Given the description of an element on the screen output the (x, y) to click on. 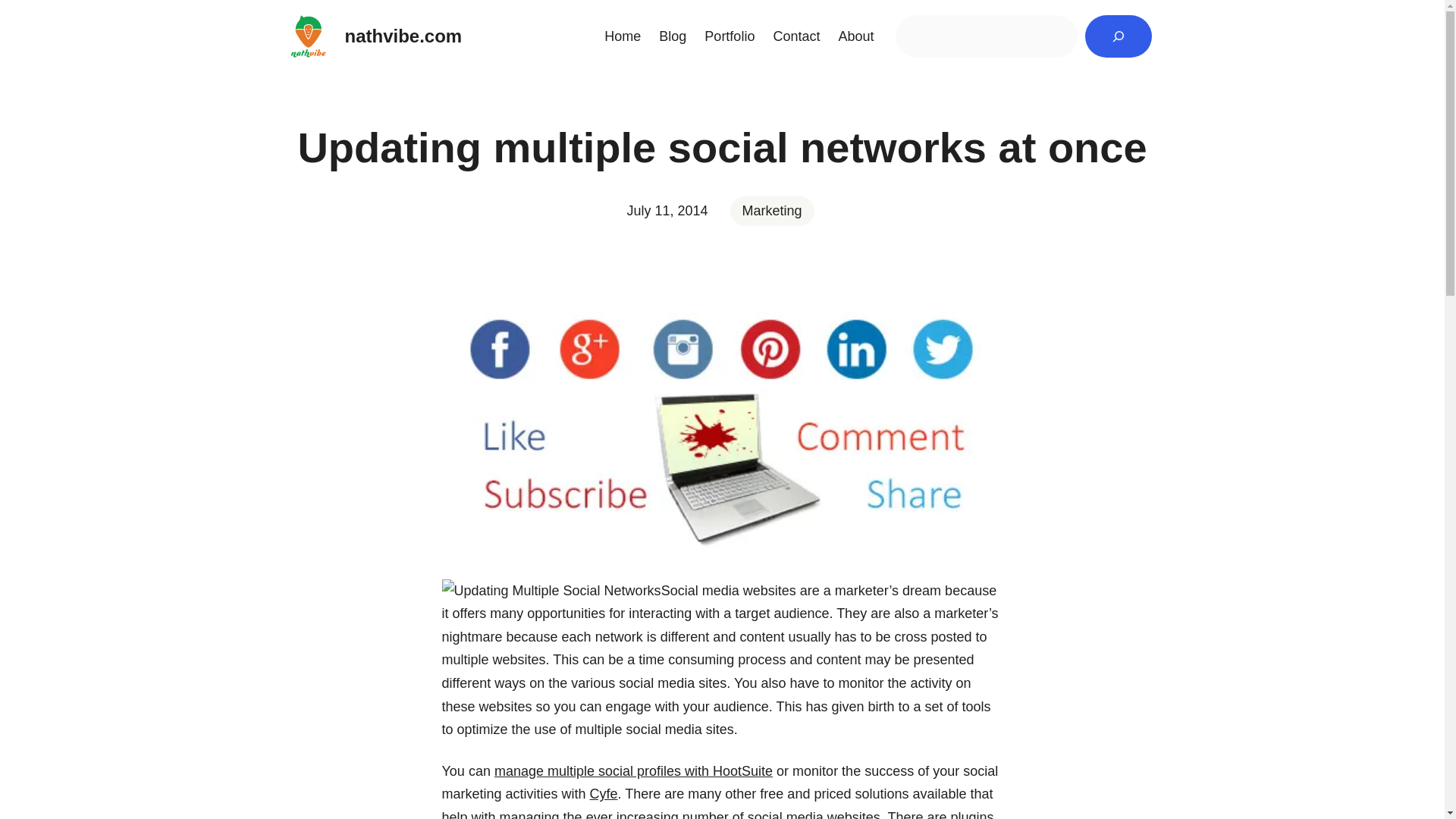
manage multiple social profiles with HootSuite (634, 770)
Portfolio (729, 36)
Blog (672, 36)
Contact (796, 36)
Home (622, 36)
About (855, 36)
Cyfe (603, 793)
nathvibe.com (402, 35)
Marketing (771, 211)
